Given the description of an element on the screen output the (x, y) to click on. 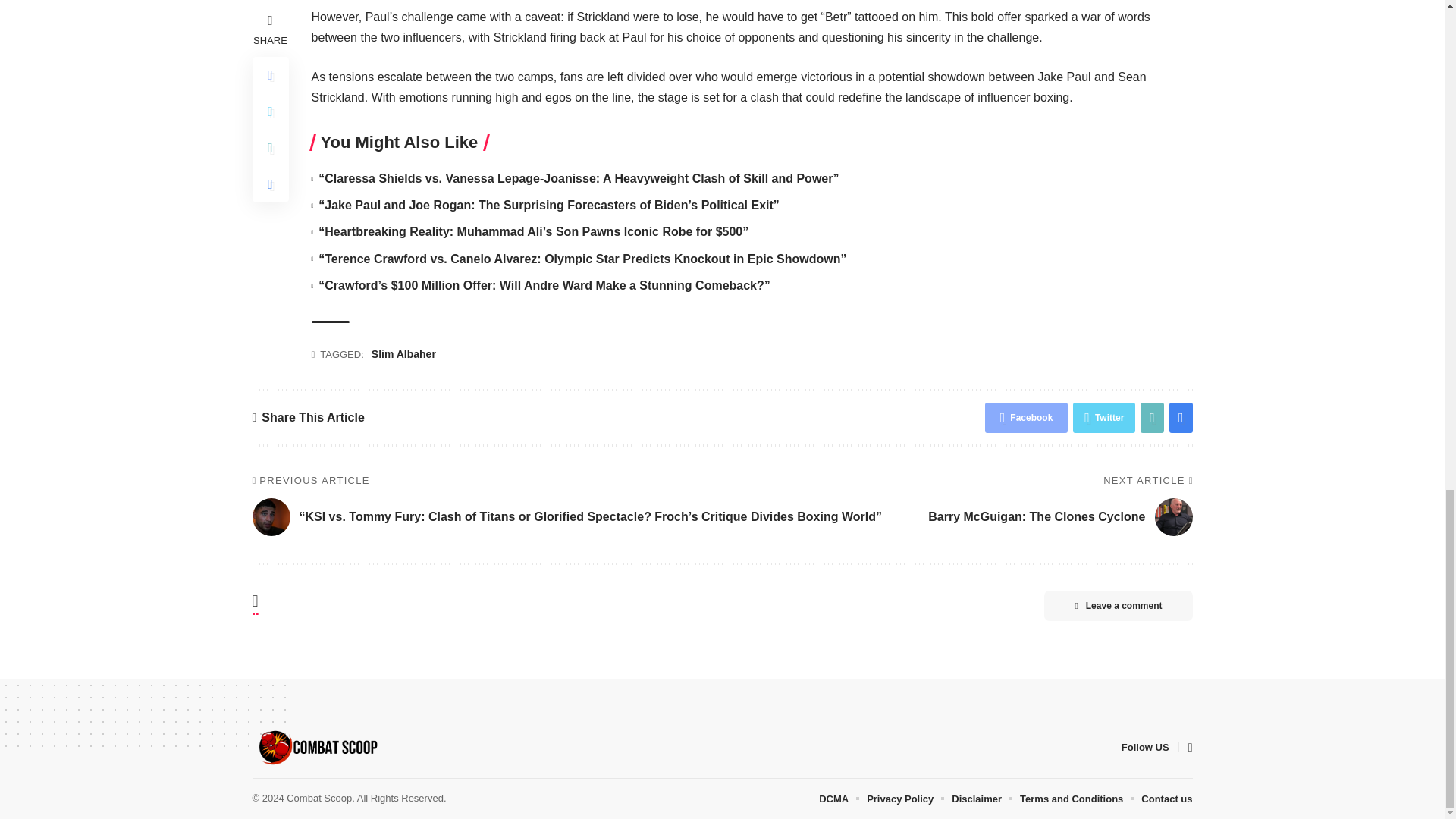
World Boxing News (316, 747)
